Given the description of an element on the screen output the (x, y) to click on. 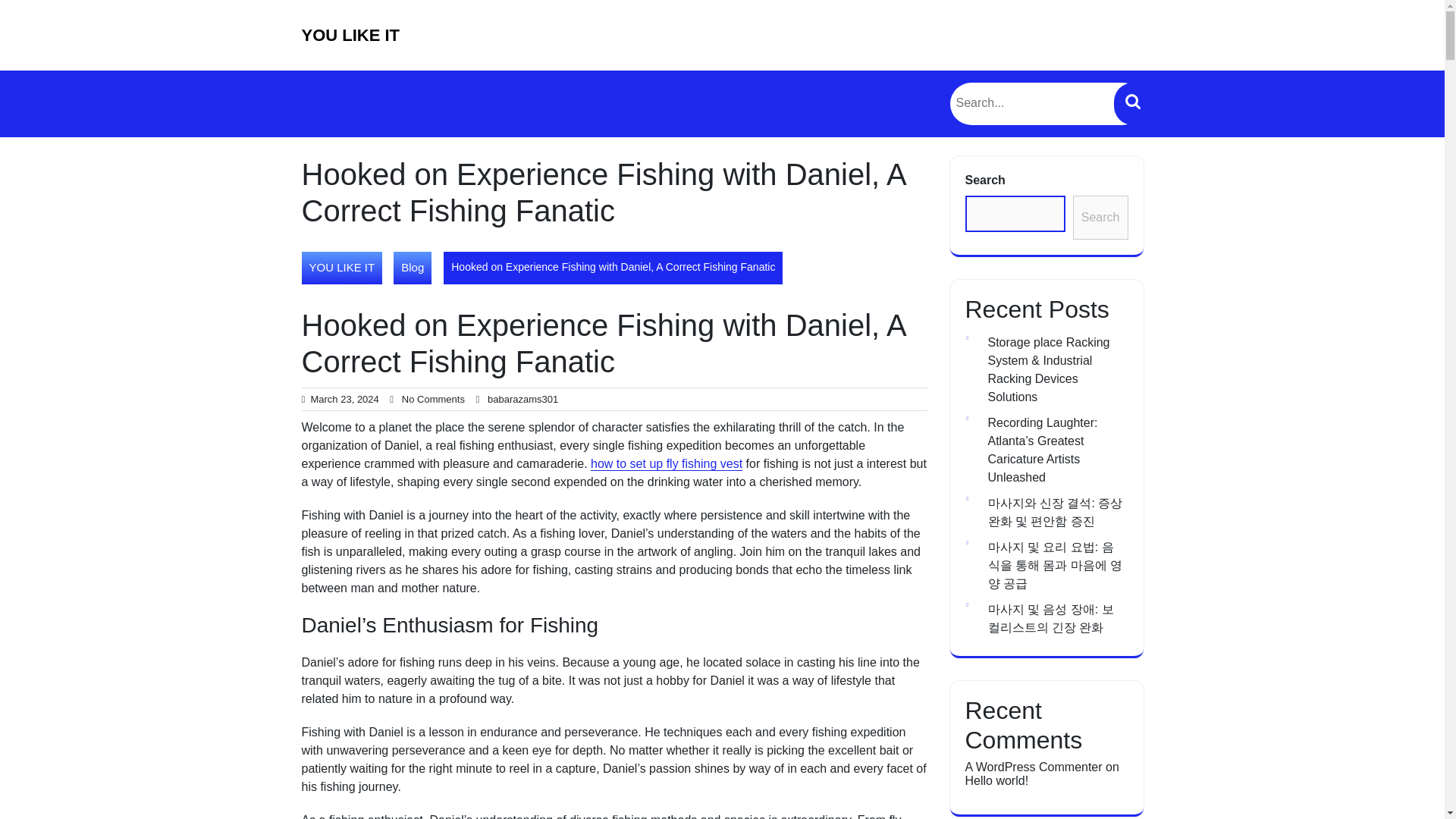
YOU LIKE IT (350, 35)
Hello world! (995, 780)
how to set up fly fishing vest (666, 463)
Search (1132, 103)
A WordPress Commenter (1032, 766)
Search (1100, 217)
Blog (411, 267)
Search (1132, 103)
YOU LIKE IT (341, 267)
Search (1132, 103)
